Given the description of an element on the screen output the (x, y) to click on. 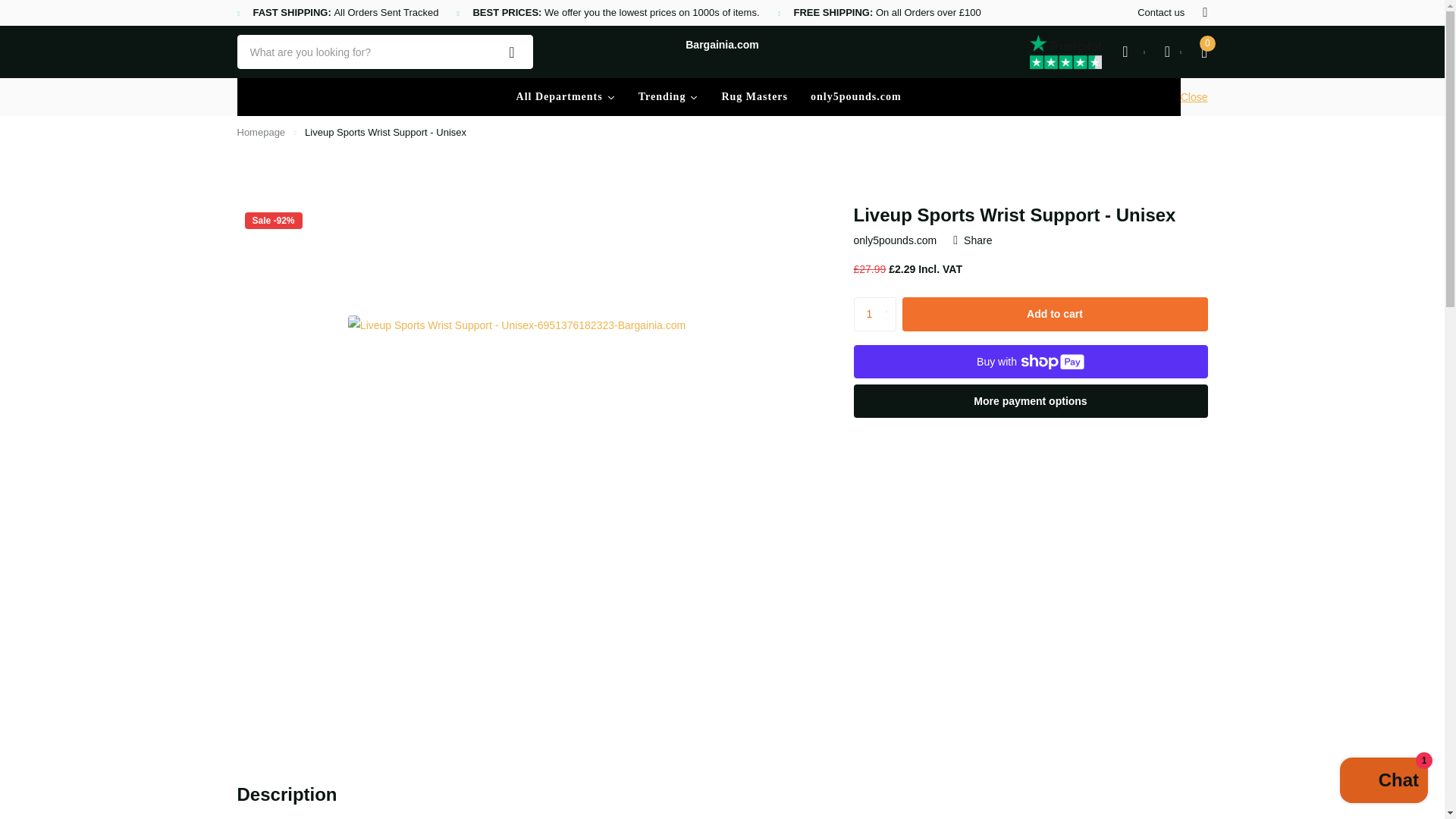
Shopify online store chat (1383, 781)
only5pounds.com (855, 96)
Zoeken (512, 51)
Home (260, 132)
All Departments (566, 96)
Close (1194, 97)
1 (874, 314)
Contact us (1161, 12)
Rug Masters (754, 96)
All Departments  (566, 96)
0 (1203, 51)
Trending (668, 96)
Trending (668, 96)
only5pounds.com (855, 96)
Rug Masters (754, 96)
